Given the description of an element on the screen output the (x, y) to click on. 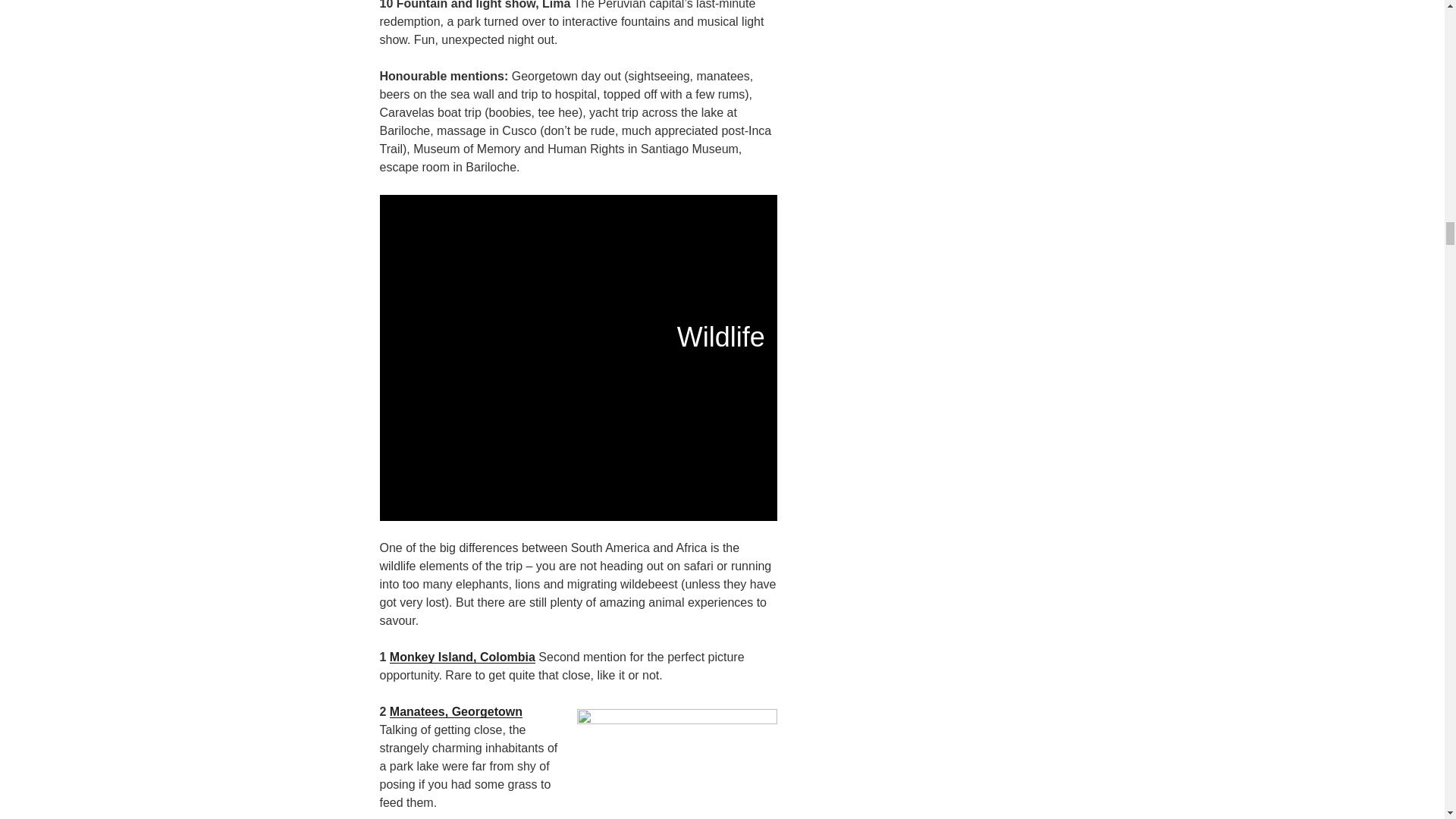
Manatees, Georgetown (456, 711)
Monkey Island, Colombia (462, 656)
